Given the description of an element on the screen output the (x, y) to click on. 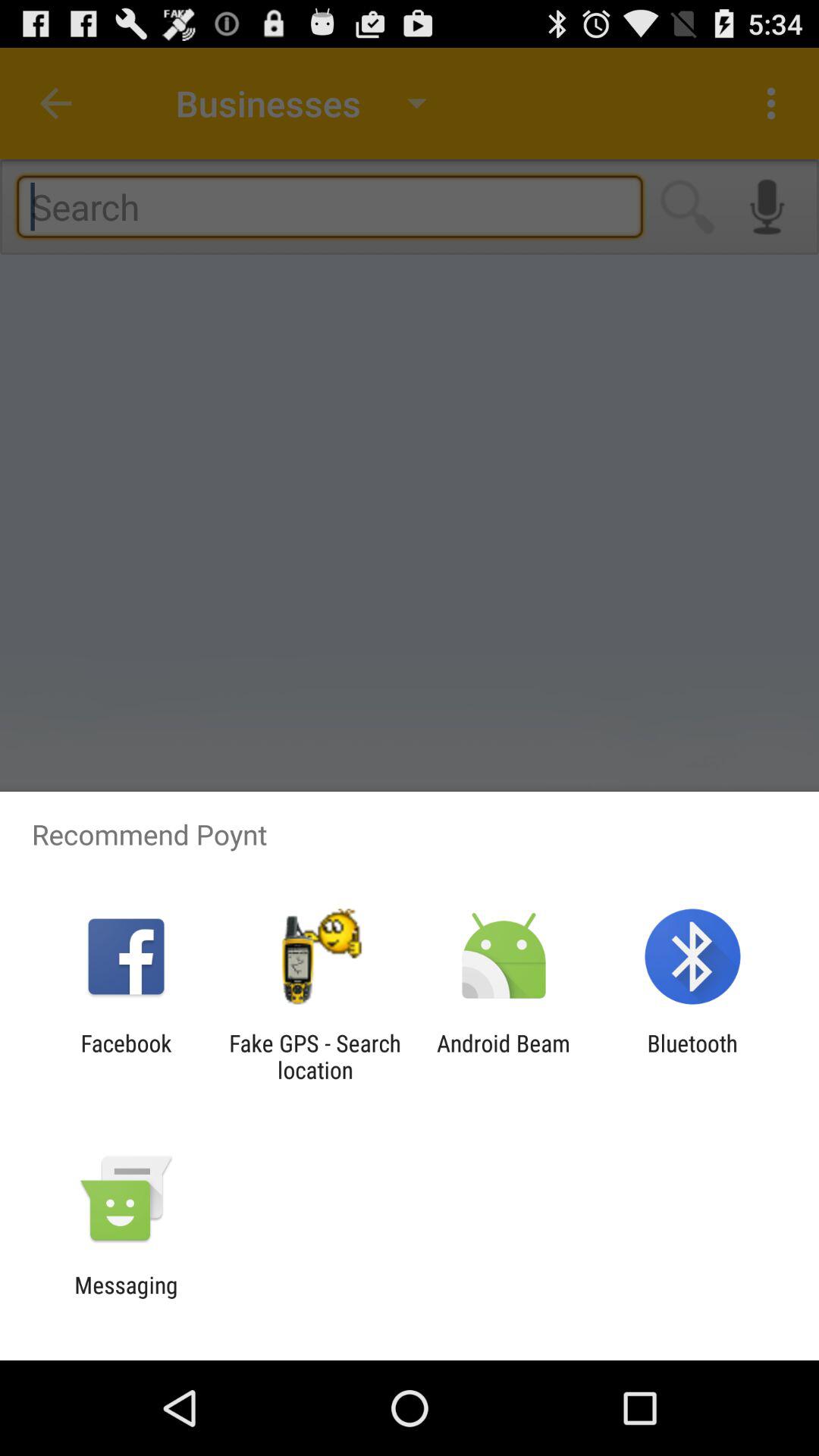
turn off item next to facebook app (314, 1056)
